Given the description of an element on the screen output the (x, y) to click on. 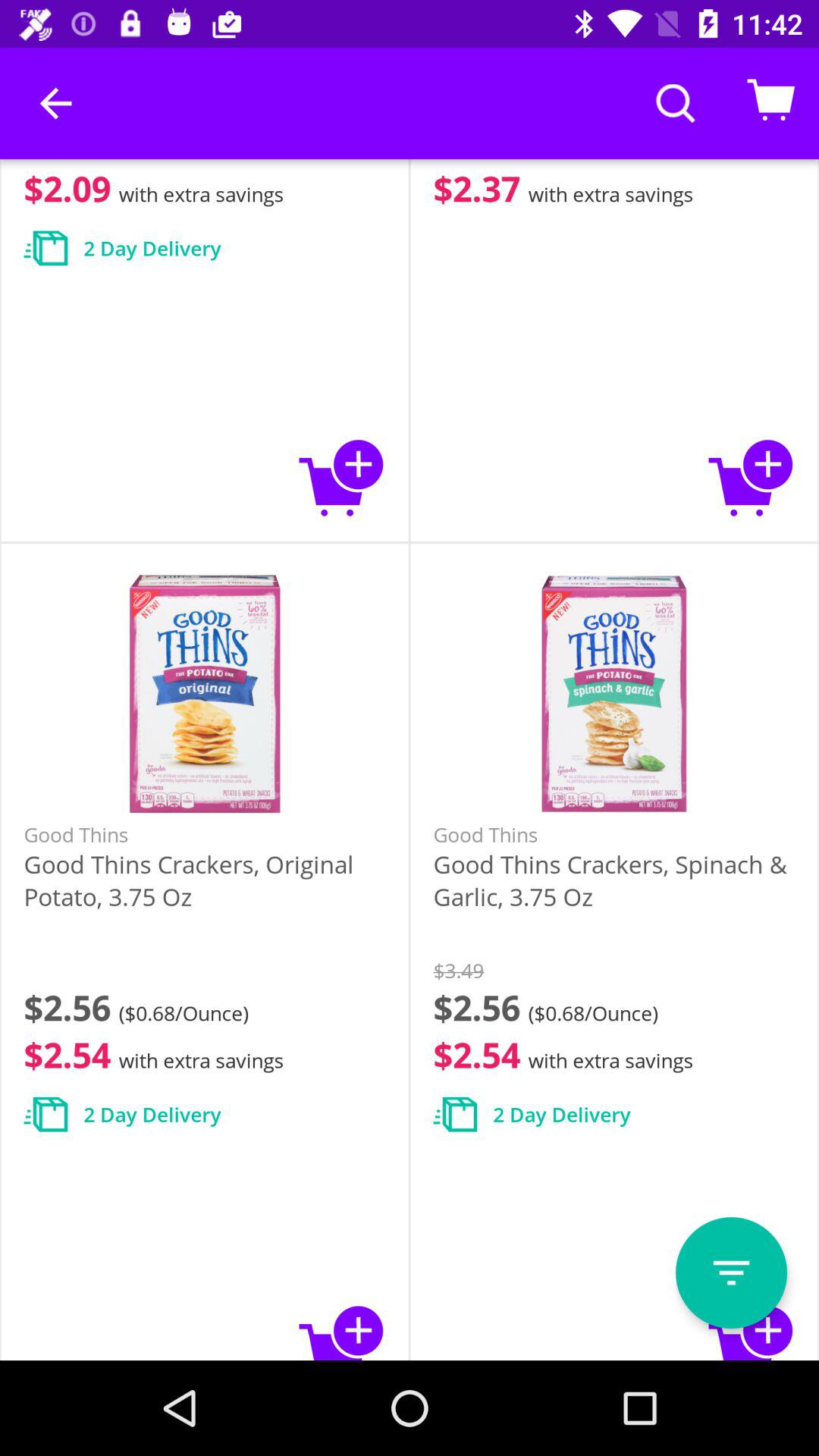
add to cart (751, 1330)
